Given the description of an element on the screen output the (x, y) to click on. 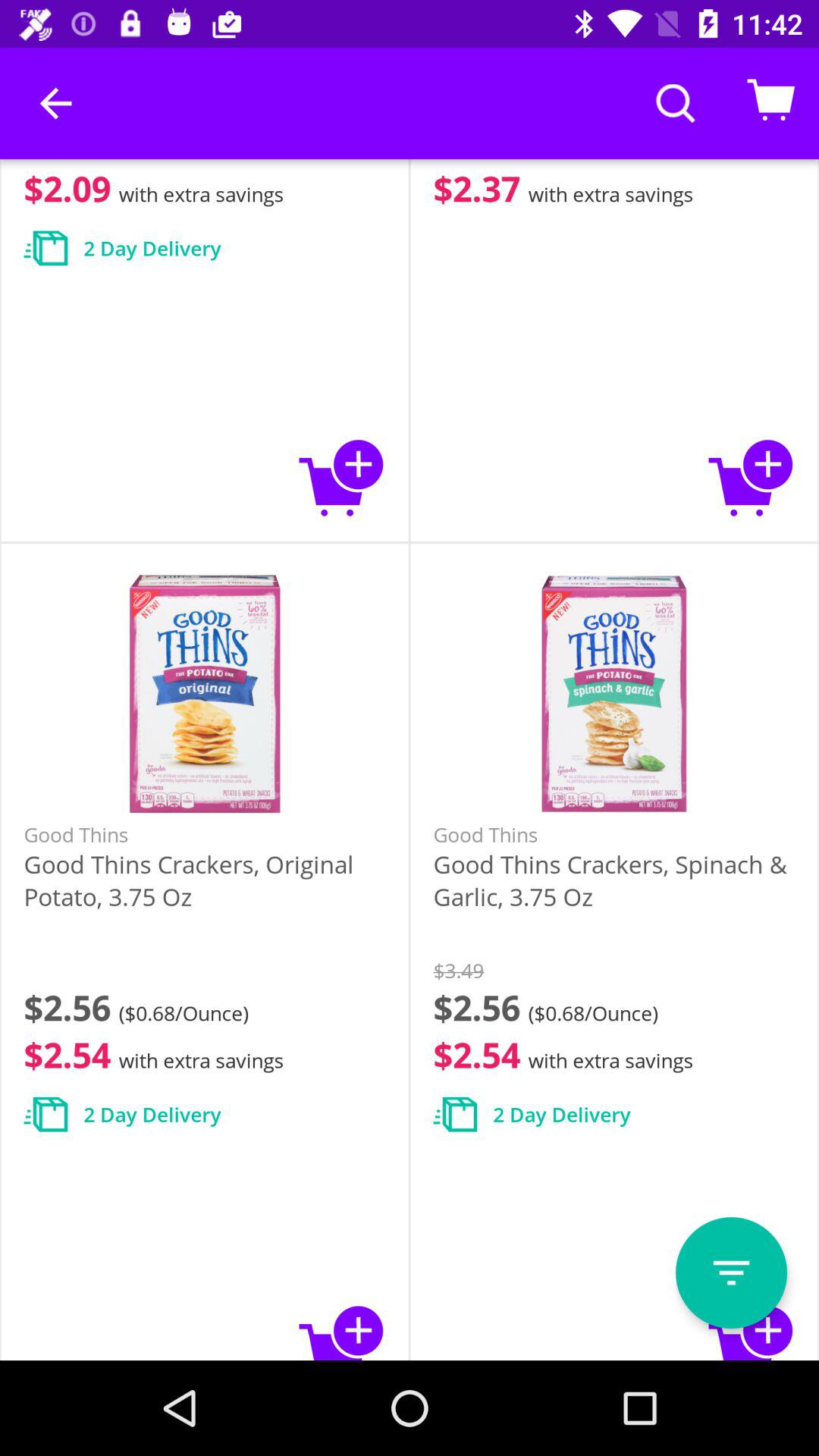
add to cart (751, 1330)
